Given the description of an element on the screen output the (x, y) to click on. 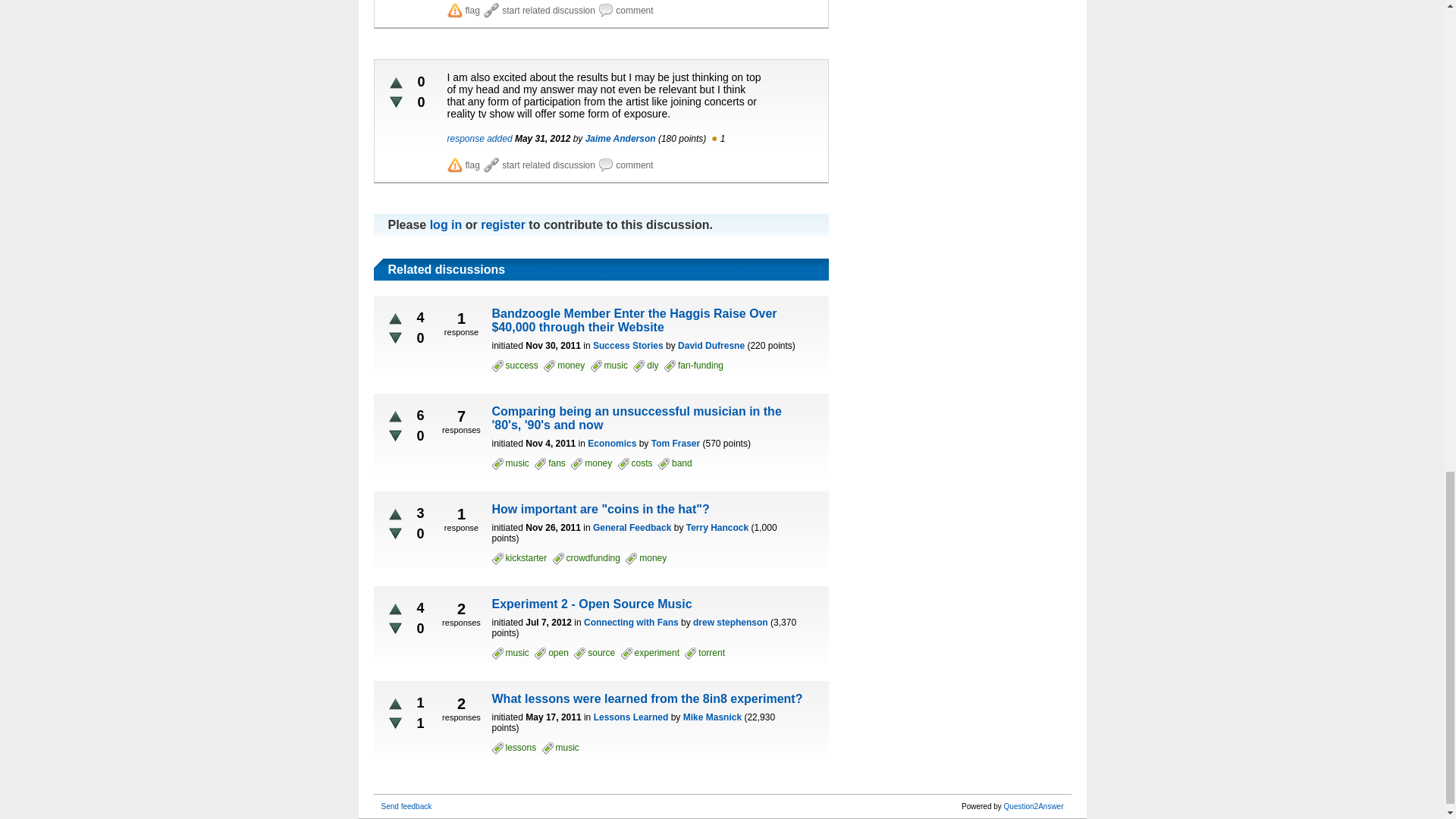
comment (625, 10)
start related discussion (539, 10)
flag (463, 10)
comment (625, 165)
flag (463, 165)
start related discussion (539, 165)
